Given the description of an element on the screen output the (x, y) to click on. 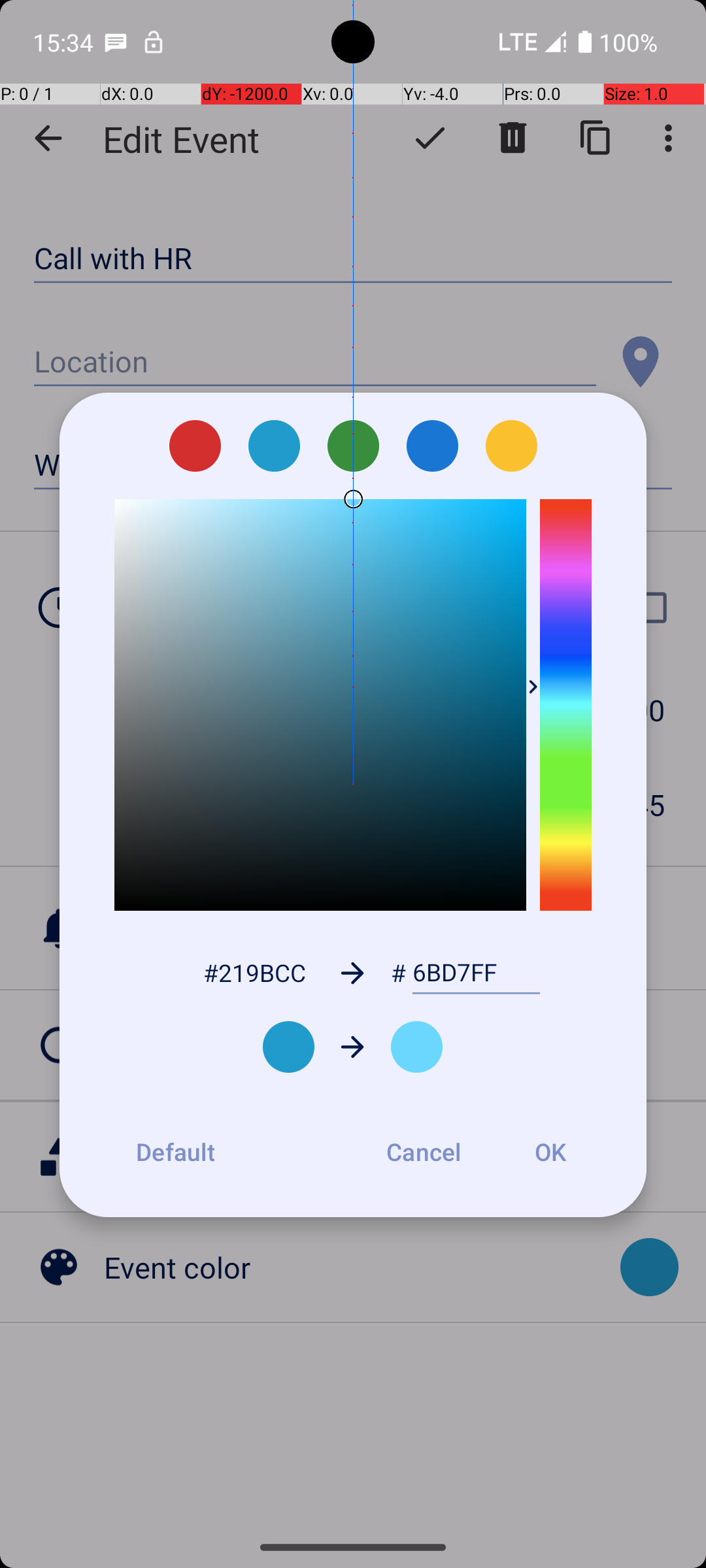
#219BCC Element type: android.widget.TextView (254, 972)
6BD7FF Element type: android.widget.EditText (475, 972)
Default Element type: android.widget.Button (174, 1151)
